Given the description of an element on the screen output the (x, y) to click on. 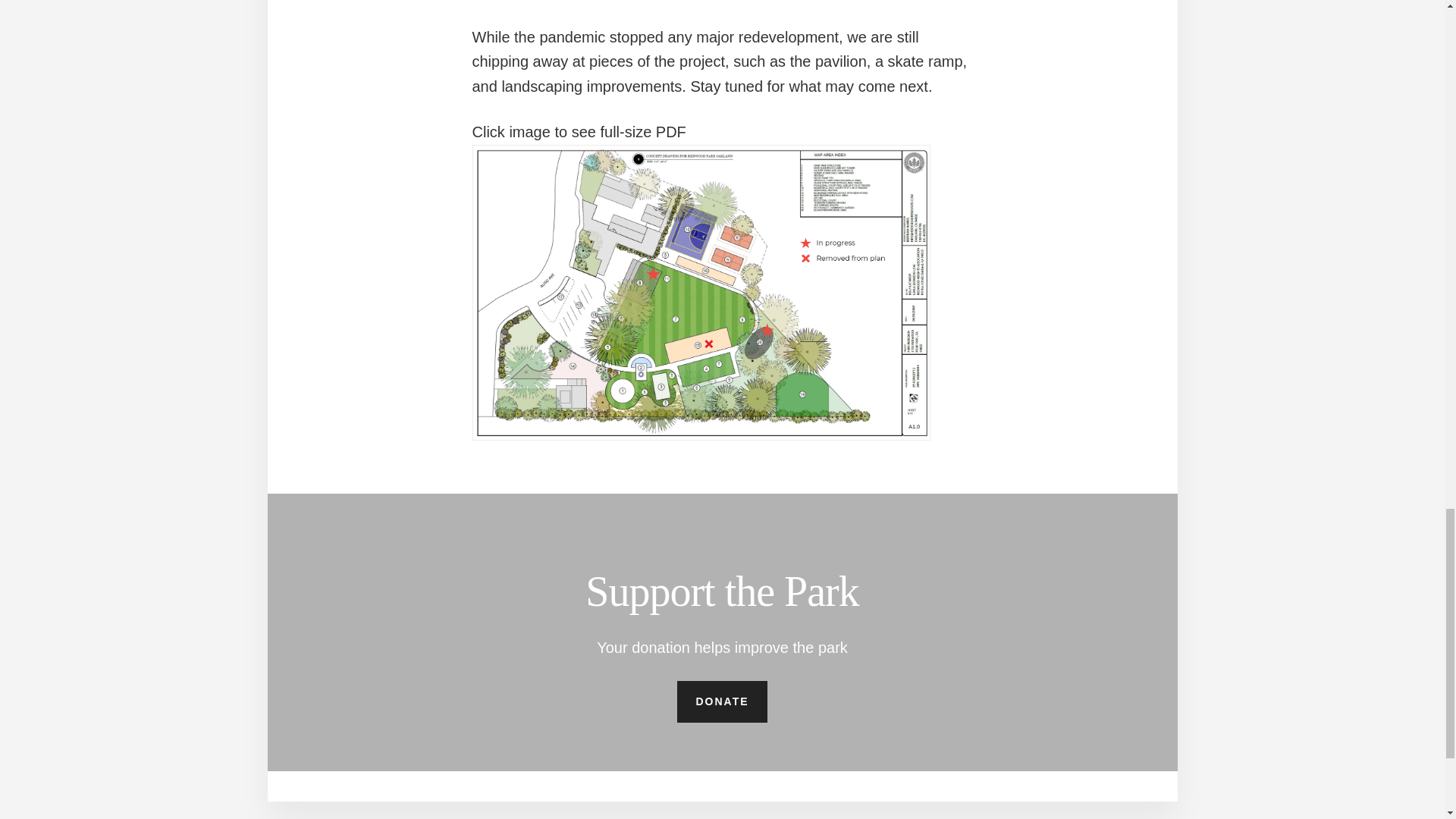
DONATE (722, 701)
